Given the description of an element on the screen output the (x, y) to click on. 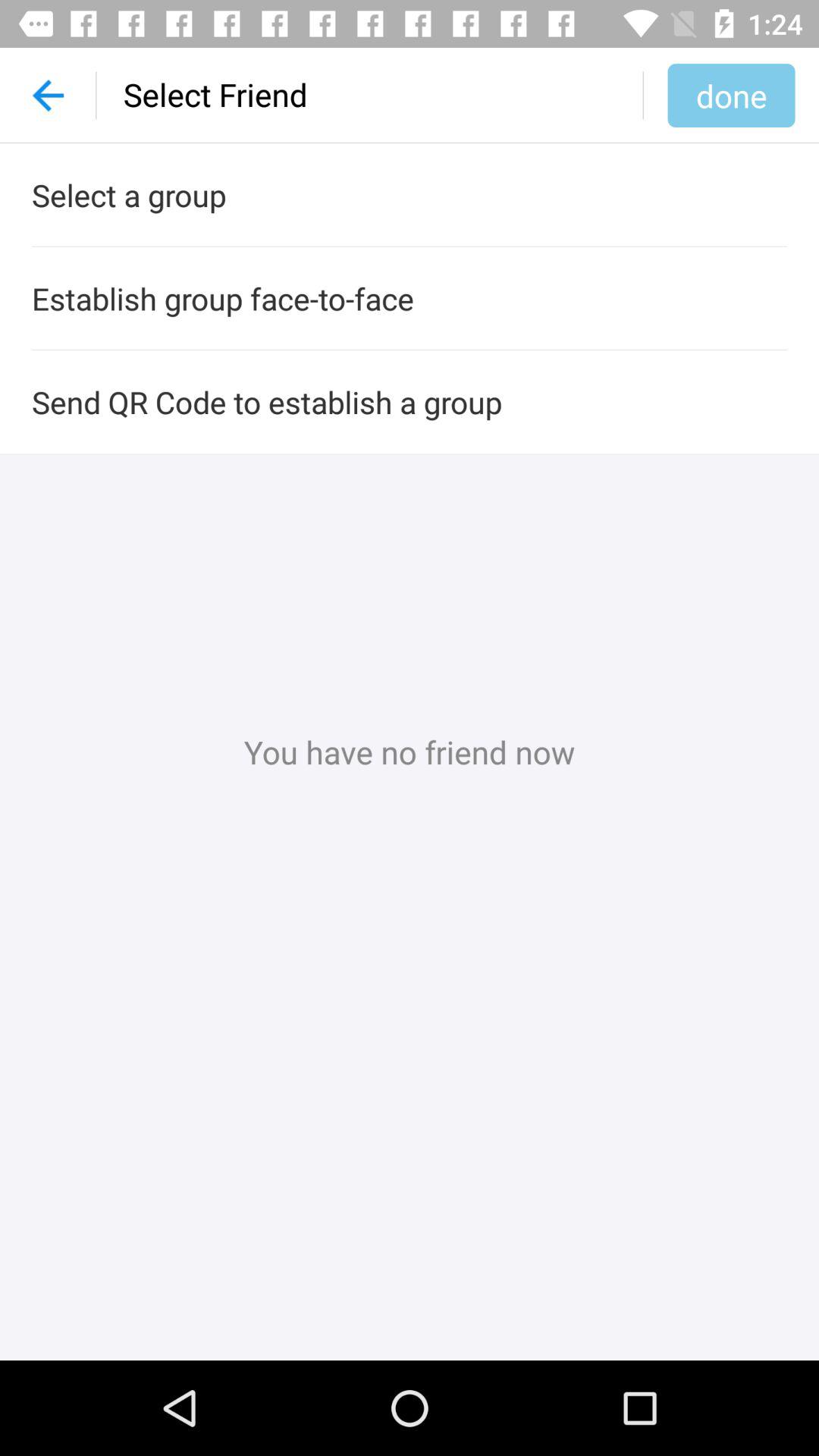
choose the item above select a group icon (47, 95)
